Given the description of an element on the screen output the (x, y) to click on. 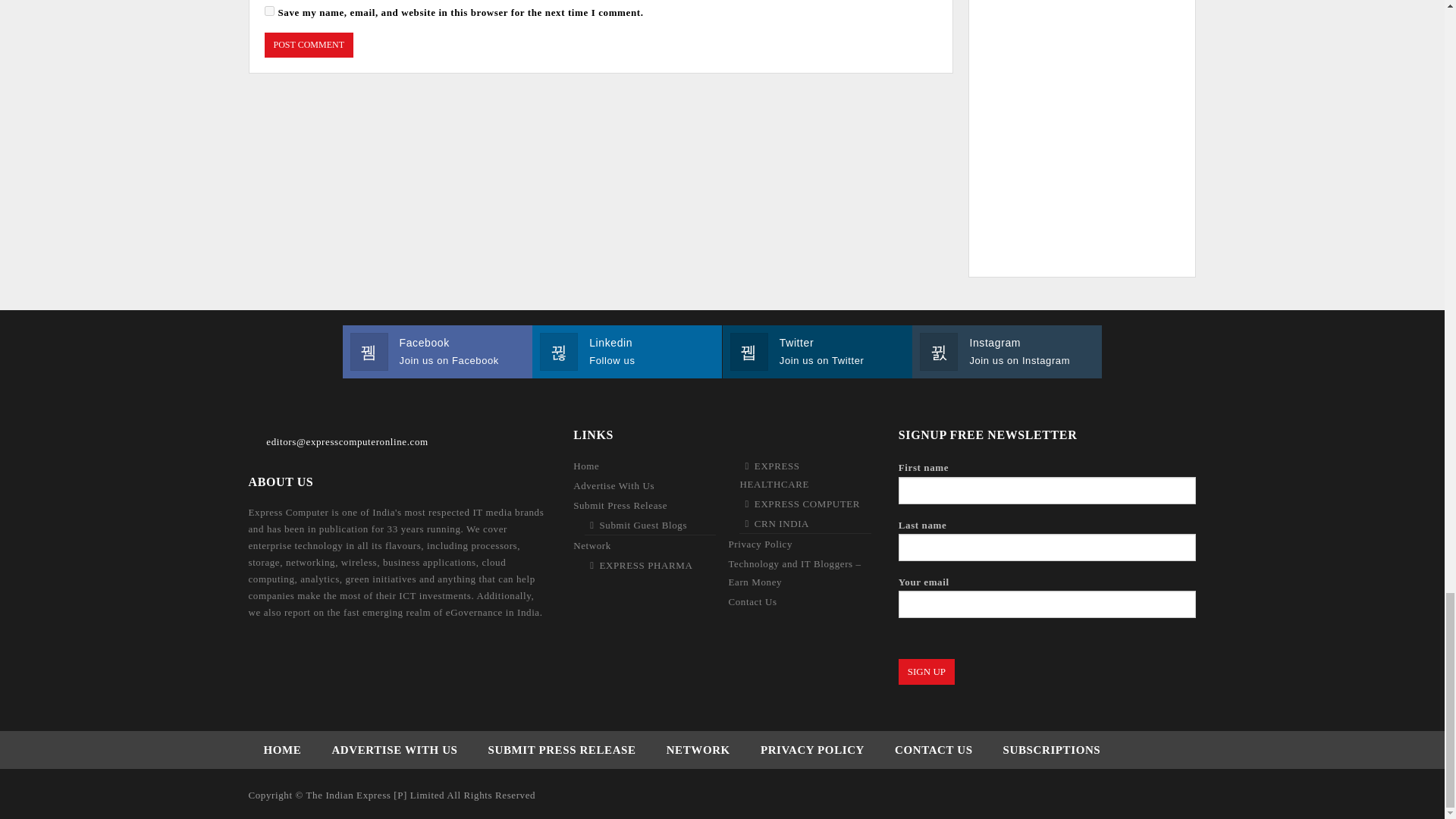
Post Comment (307, 44)
yes (268, 10)
Sign Up (926, 671)
